Given the description of an element on the screen output the (x, y) to click on. 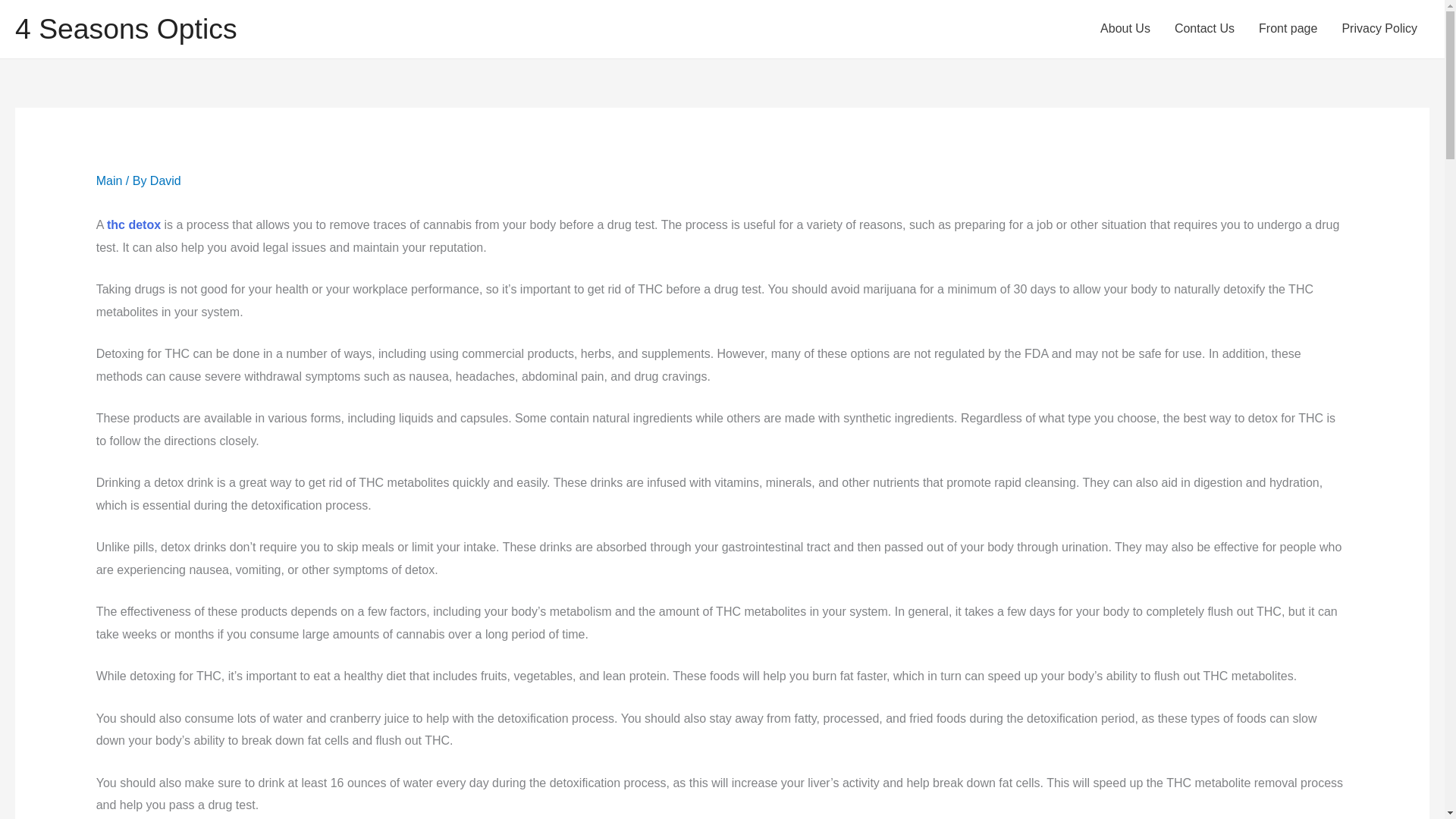
Privacy Policy (1379, 29)
About Us (1124, 29)
Front page (1287, 29)
Main (109, 180)
4 Seasons Optics (125, 29)
David (164, 180)
Contact Us (1203, 29)
thc detox (133, 224)
View all posts by David (164, 180)
